Given the description of an element on the screen output the (x, y) to click on. 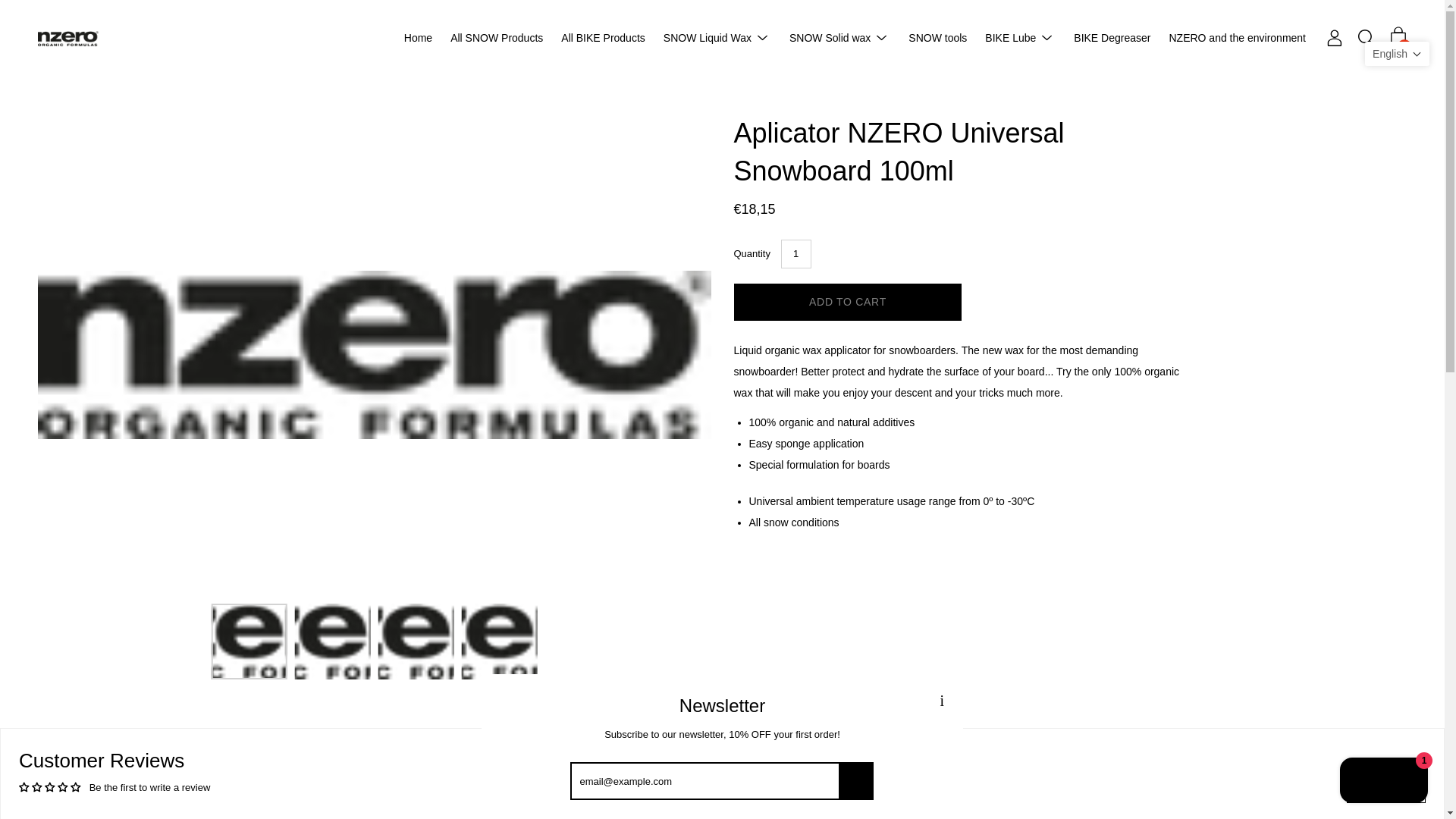
Home (418, 37)
All BIKE Products (602, 37)
All SNOW Products (496, 37)
1 (795, 254)
Show submenu (881, 37)
Shopify online store chat (1383, 781)
SNOW Solid wax (829, 37)
SNOW Liquid Wax (707, 37)
Show submenu (762, 37)
